Given the description of an element on the screen output the (x, y) to click on. 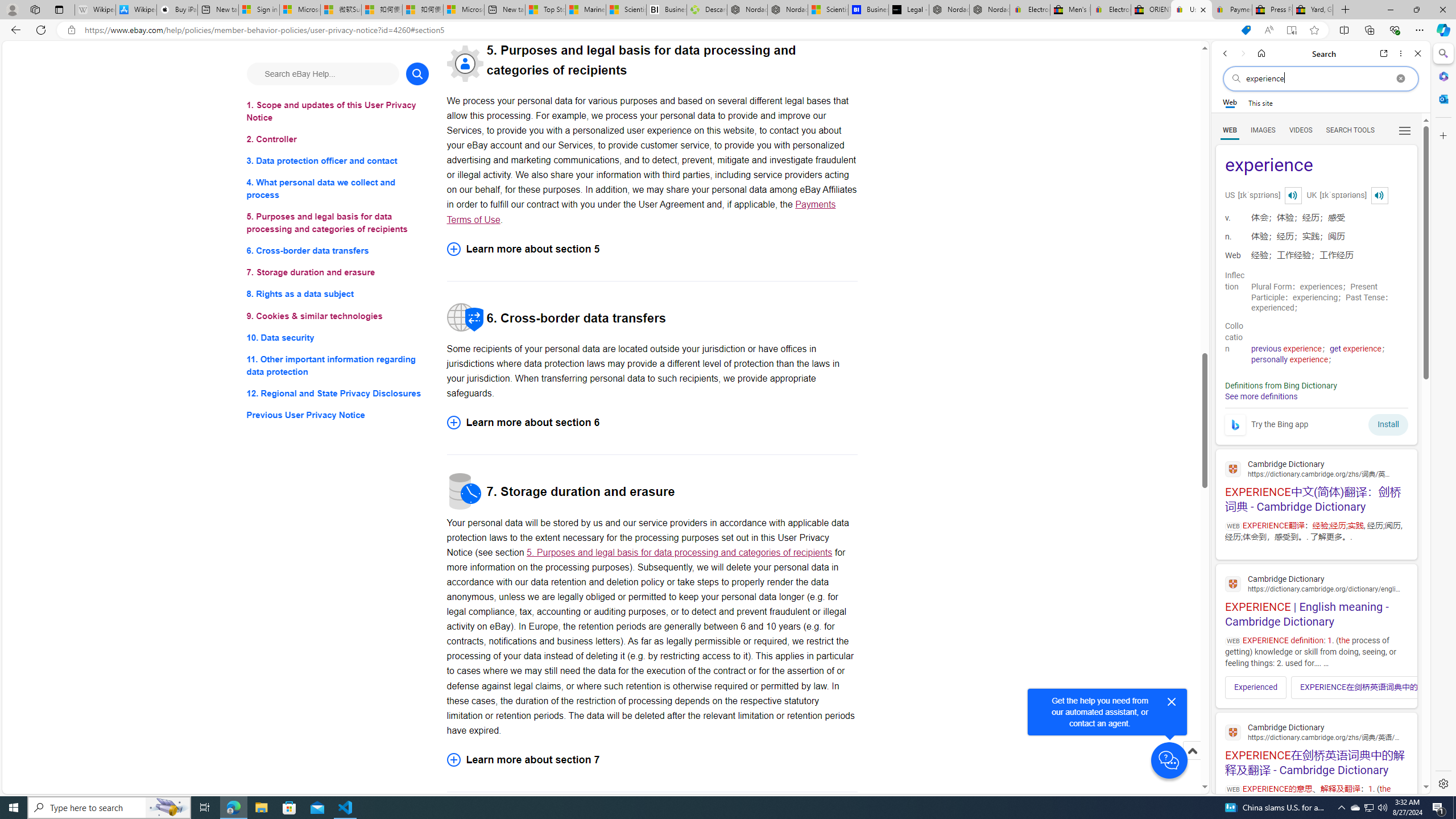
1. Scope and updates of this User Privacy Notice (337, 111)
Learn more about section 6 (651, 422)
3. Data protection officer and contact (337, 160)
Experienced (1256, 687)
8. Rights as a data subject (337, 293)
10. Data security (337, 336)
Try the Bing app Install (1315, 421)
Clear (1400, 78)
